Given the description of an element on the screen output the (x, y) to click on. 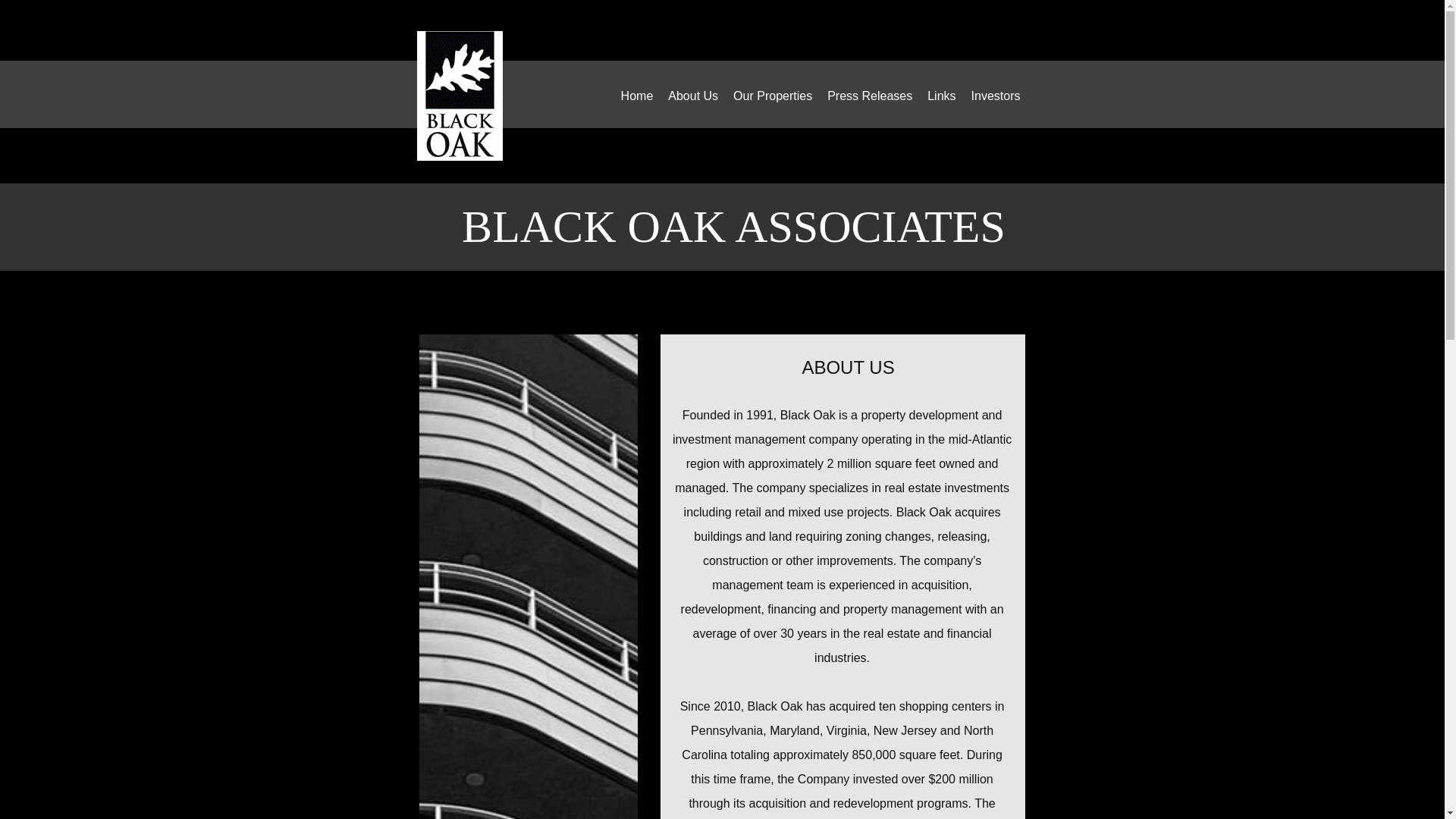
Links (941, 94)
Home (636, 94)
About Us (693, 94)
Investors (995, 94)
Press Releases (869, 94)
Our Properties (772, 94)
